Given the description of an element on the screen output the (x, y) to click on. 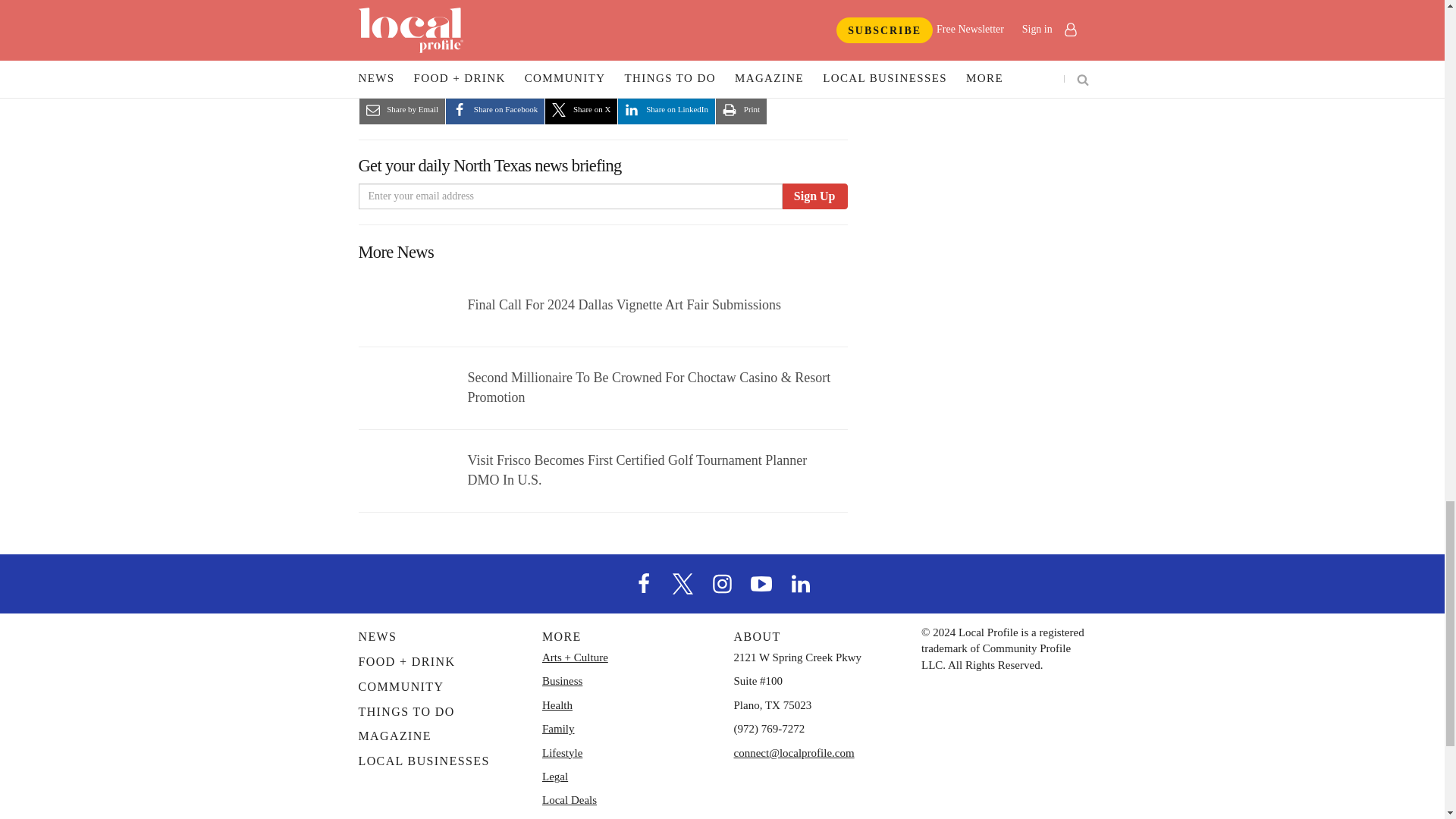
Facebook (644, 582)
LinkedIn (800, 582)
YouTube (760, 582)
Instagram (721, 582)
X (683, 582)
